Given the description of an element on the screen output the (x, y) to click on. 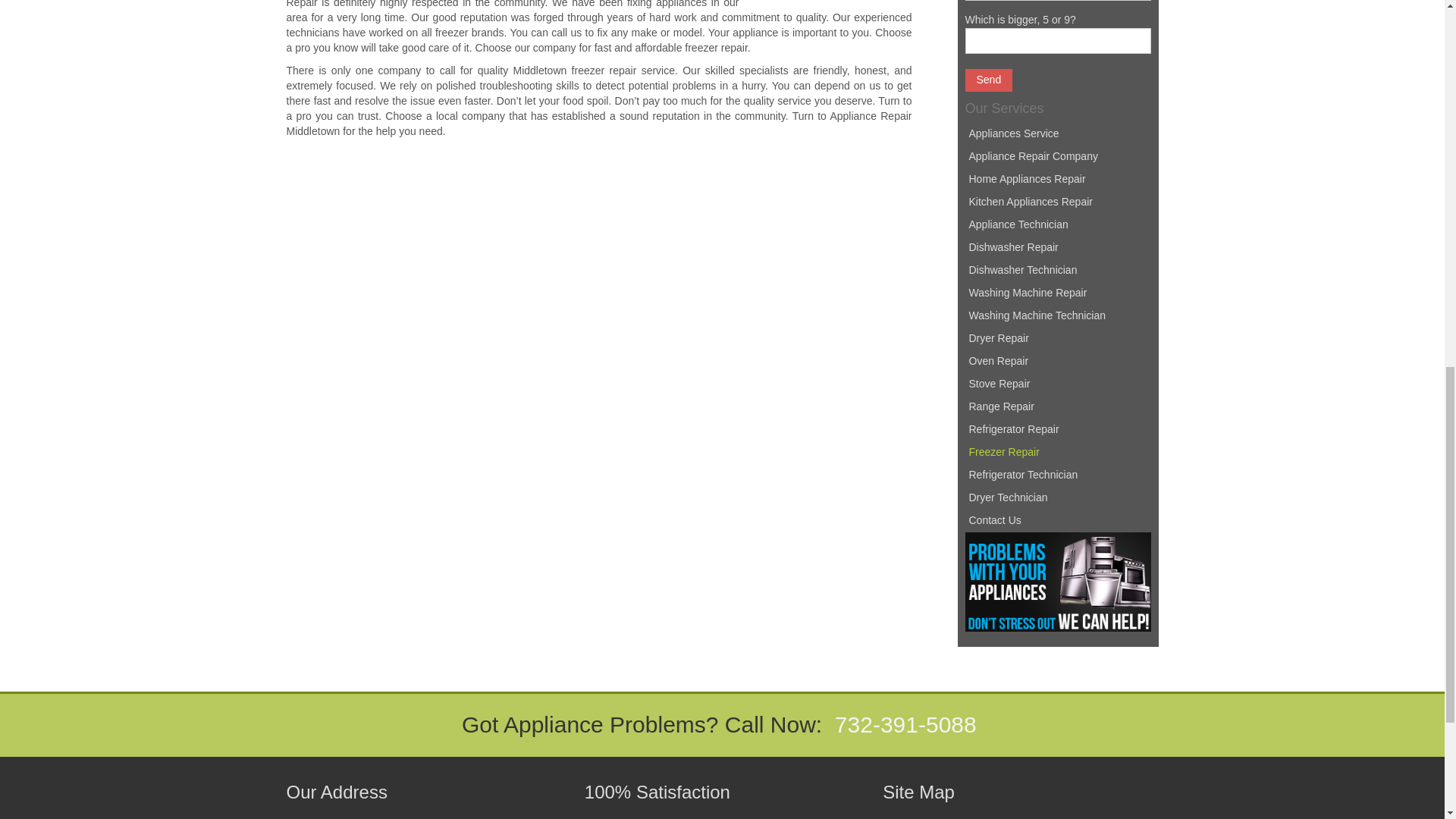
Send (987, 79)
